Given the description of an element on the screen output the (x, y) to click on. 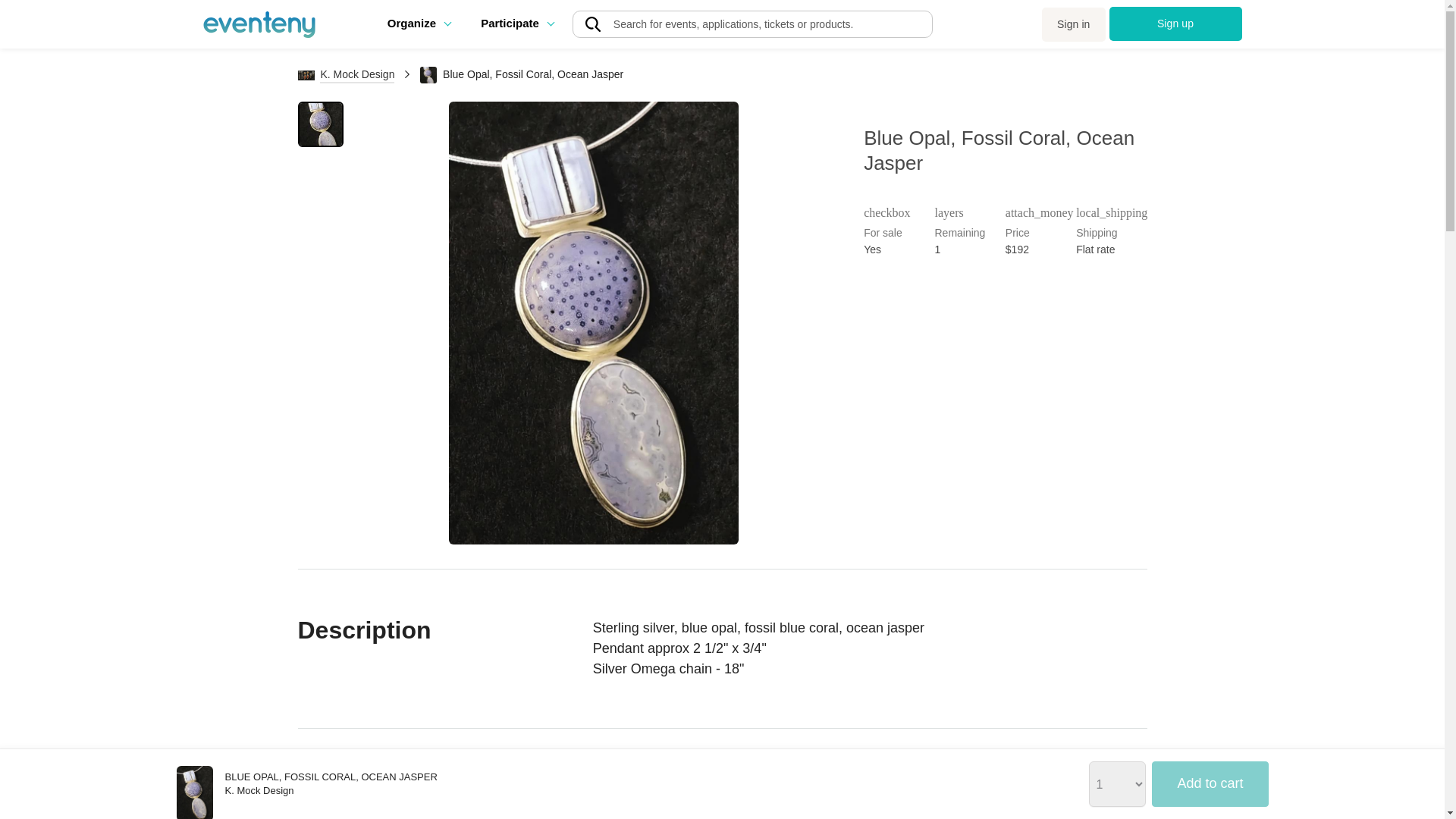
K. Mock Design (347, 73)
Organize (418, 22)
Participate (516, 22)
Create events your way - Eventeny (259, 24)
Blue Opal, Fossil Coral, Ocean Jasper (194, 792)
Sign in (1073, 24)
